Given the description of an element on the screen output the (x, y) to click on. 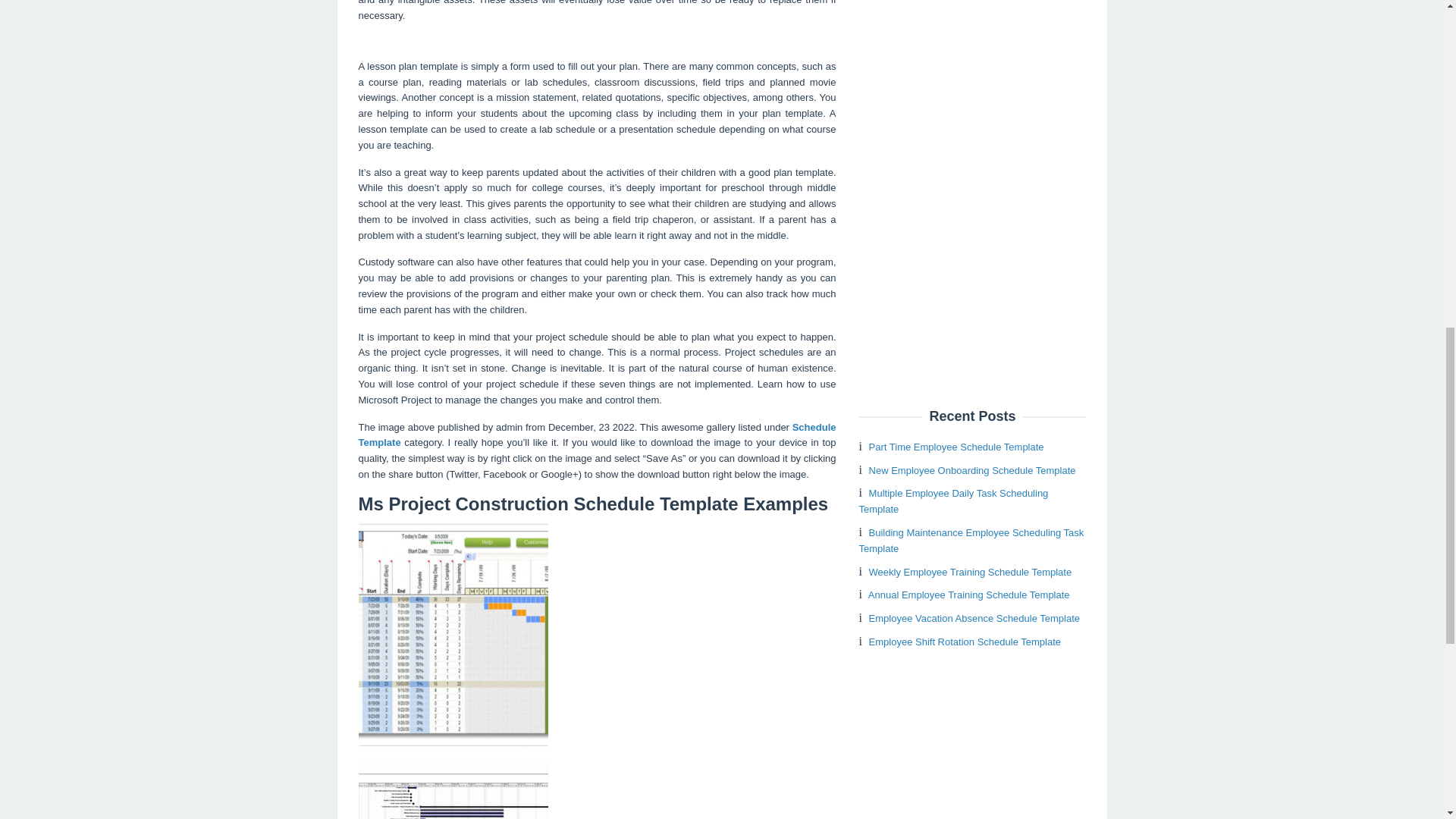
New Employee Onboarding Schedule Template (972, 470)
Part Time Employee Schedule Template (956, 446)
Multiple Employee Daily Task Scheduling Template (953, 501)
Employee Shift Rotation Schedule Template (965, 641)
Employee Vacation Absence Schedule Template (974, 618)
Weekly Employee Training Schedule Template (970, 572)
Building Maintenance Employee Scheduling Task Template (971, 540)
Schedule Template (596, 434)
Annual Employee Training Schedule Template (968, 594)
